Given the description of an element on the screen output the (x, y) to click on. 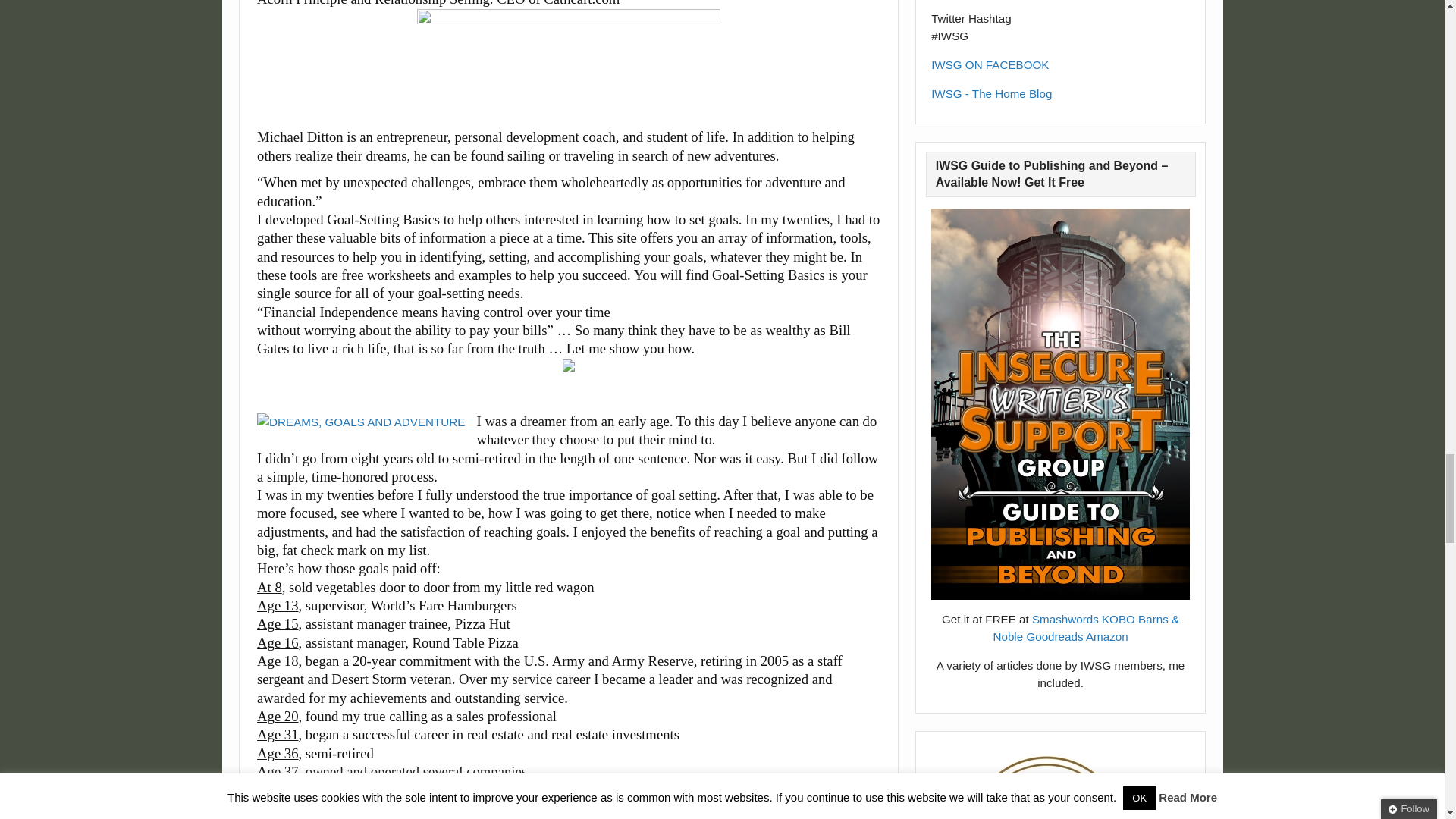
DREAMS, GOALS AND ADVENTURE (360, 422)
